Given the description of an element on the screen output the (x, y) to click on. 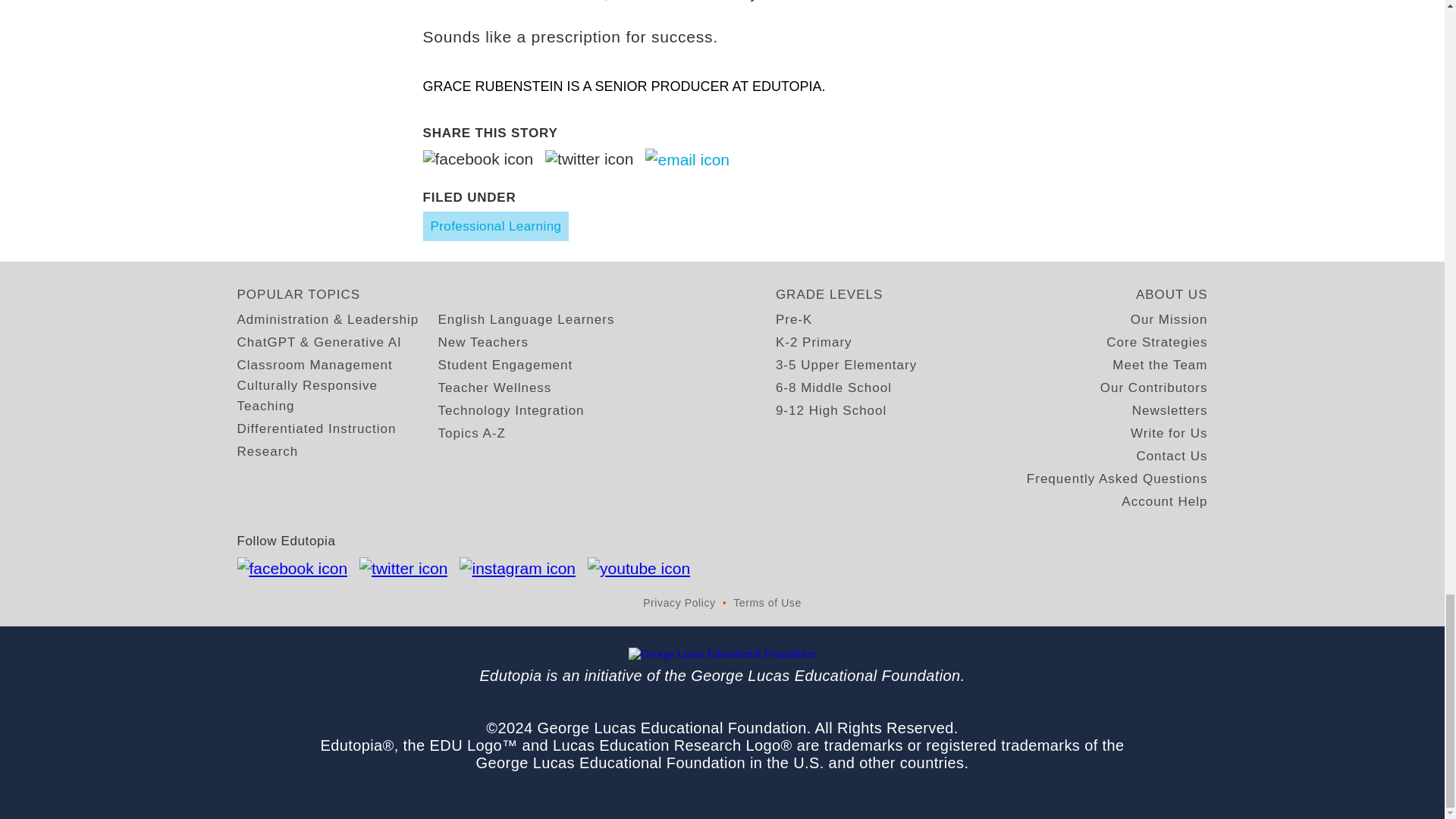
Classroom Management (313, 364)
English Language Learners (526, 319)
Technology Integration (511, 410)
6-8 Middle School (833, 387)
Teacher Wellness (494, 387)
Professional Learning (496, 225)
New Teachers (483, 342)
Research (266, 451)
Differentiated Instruction (315, 428)
3-5 Upper Elementary (846, 364)
Student Engagement (505, 364)
9-12 High School (831, 410)
Pre-K (794, 319)
Topics A-Z (471, 433)
K-2 Primary (813, 342)
